Given the description of an element on the screen output the (x, y) to click on. 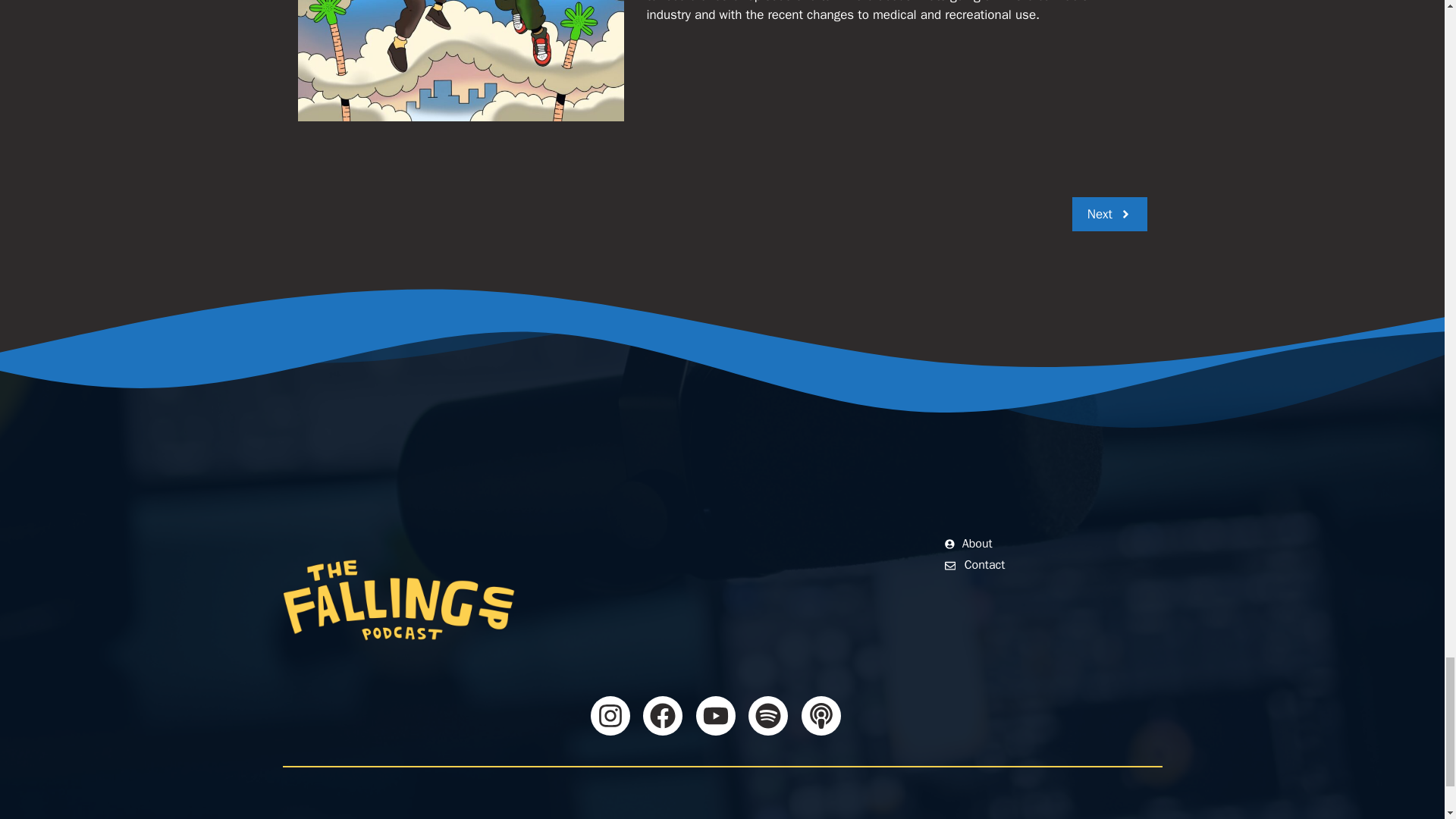
About (968, 543)
Next (1109, 214)
Contact (975, 565)
